Given the description of an element on the screen output the (x, y) to click on. 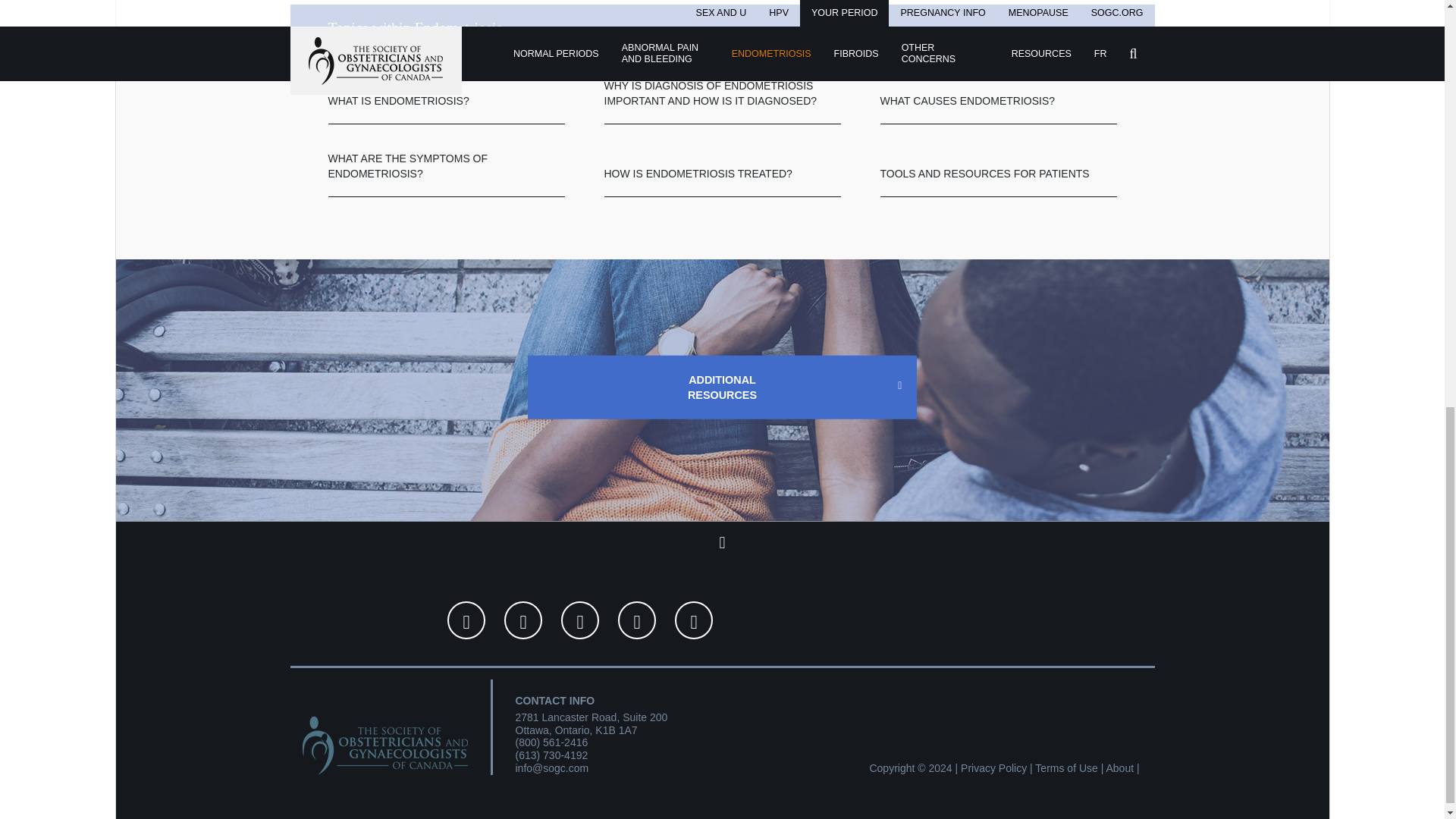
Watch our Youtube Channel (694, 620)
Back to top (722, 542)
Visit our Facebook page  (579, 620)
Back to top (722, 542)
Phone (551, 742)
Print this page (522, 620)
Phone (551, 755)
SOGC (384, 737)
Follow us on Twitter (636, 620)
Email (552, 767)
